Given the description of an element on the screen output the (x, y) to click on. 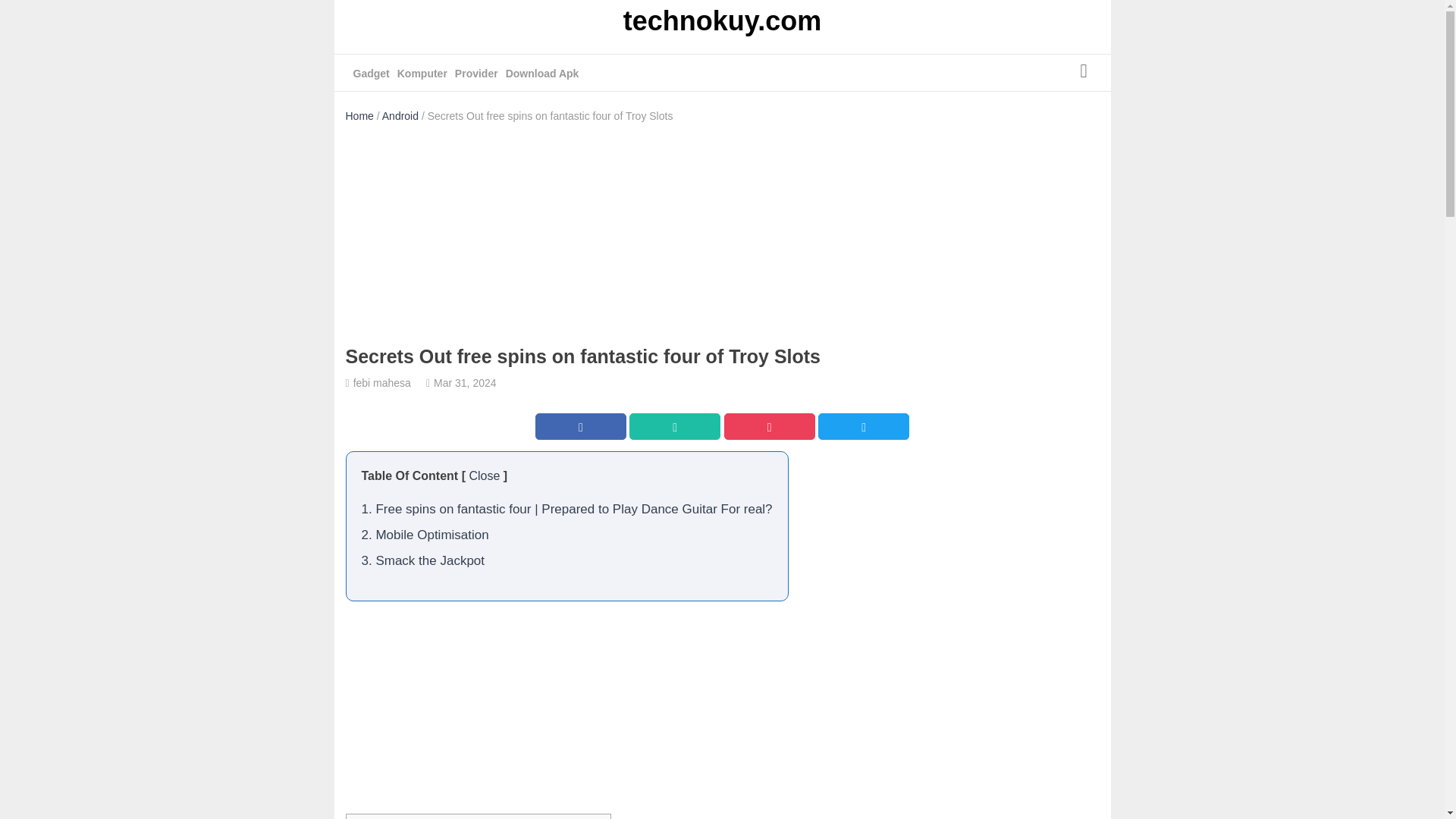
Android (400, 115)
Close (483, 475)
Advertisement (721, 779)
Home (360, 115)
Gadget (371, 73)
Komputer (421, 73)
2. Mobile Optimisation (424, 534)
Provider (475, 73)
3. Smack the Jackpot (422, 560)
technokuy.com (721, 22)
Download Apk (542, 73)
